Given the description of an element on the screen output the (x, y) to click on. 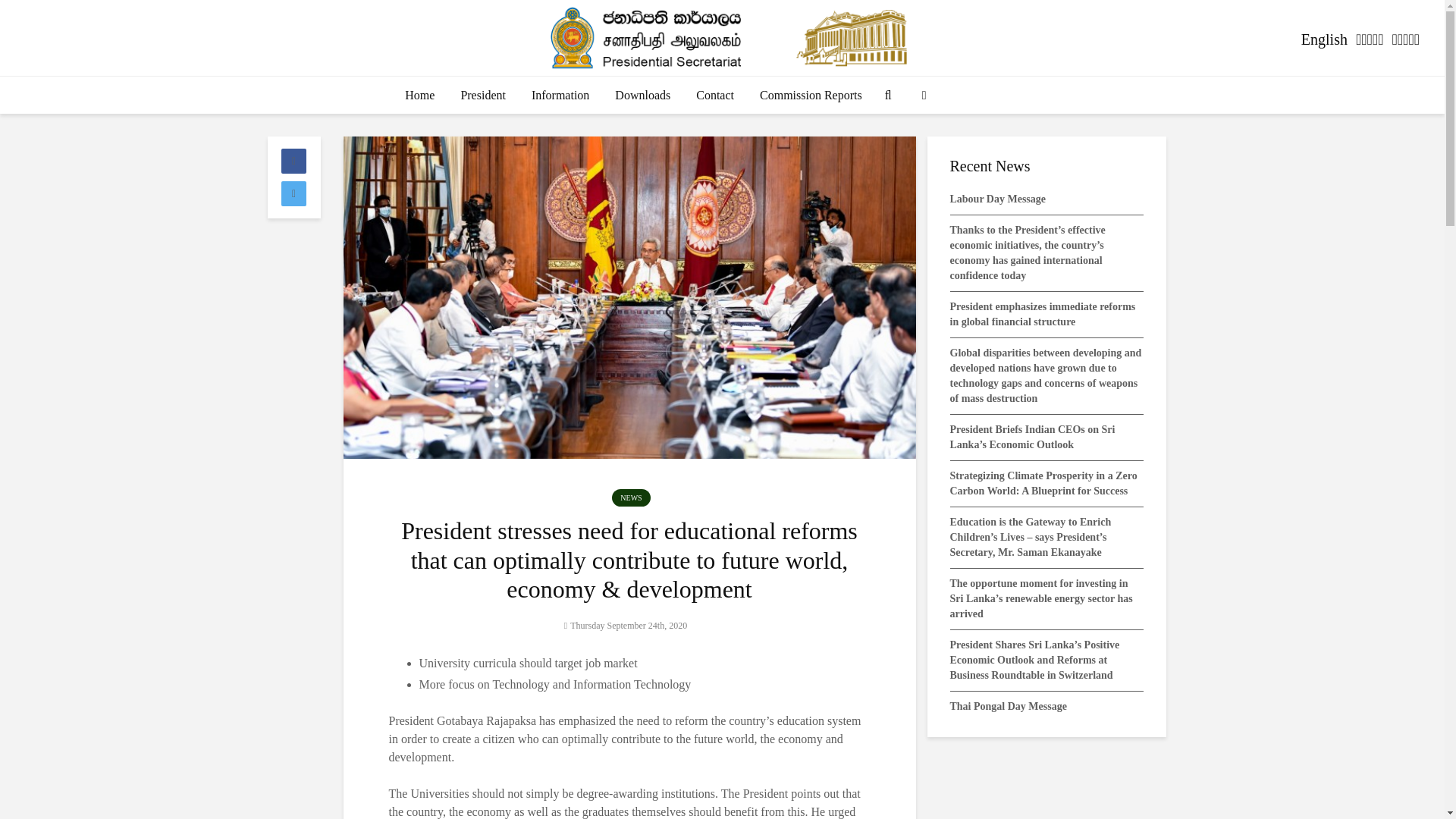
Information (559, 95)
Commission Reports (810, 95)
NEWS (630, 497)
Downloads (642, 95)
English (1324, 38)
Home (419, 95)
President (482, 95)
Contact (714, 95)
